Given the description of an element on the screen output the (x, y) to click on. 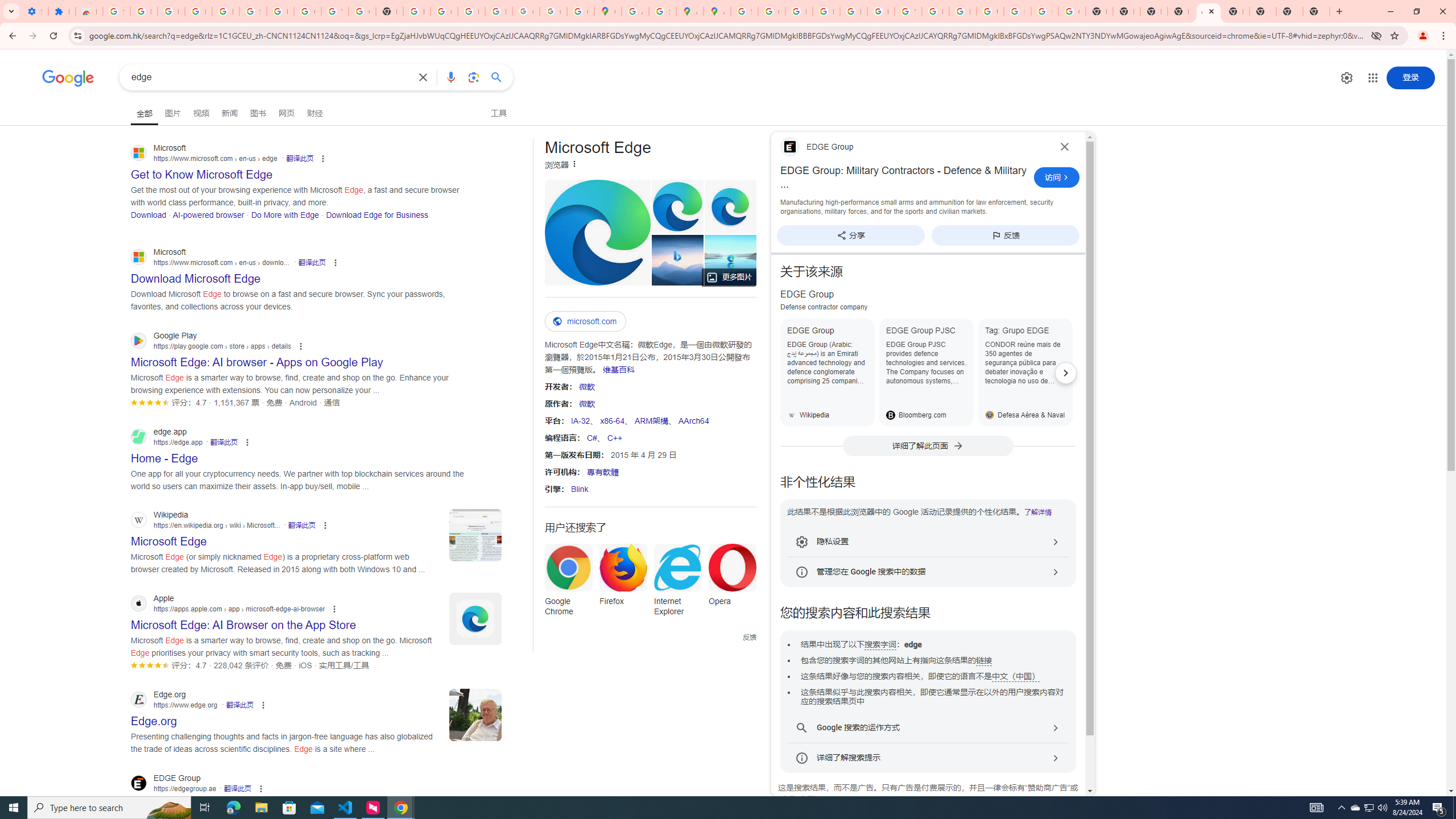
Microsoft Edge help & learning (677, 260)
IA-32 (579, 420)
EDGE Group PJSC (926, 372)
Extensions (61, 11)
upload.wikimedia.org/wikipedia/commons/9/98/Micros... (597, 232)
